Given the description of an element on the screen output the (x, y) to click on. 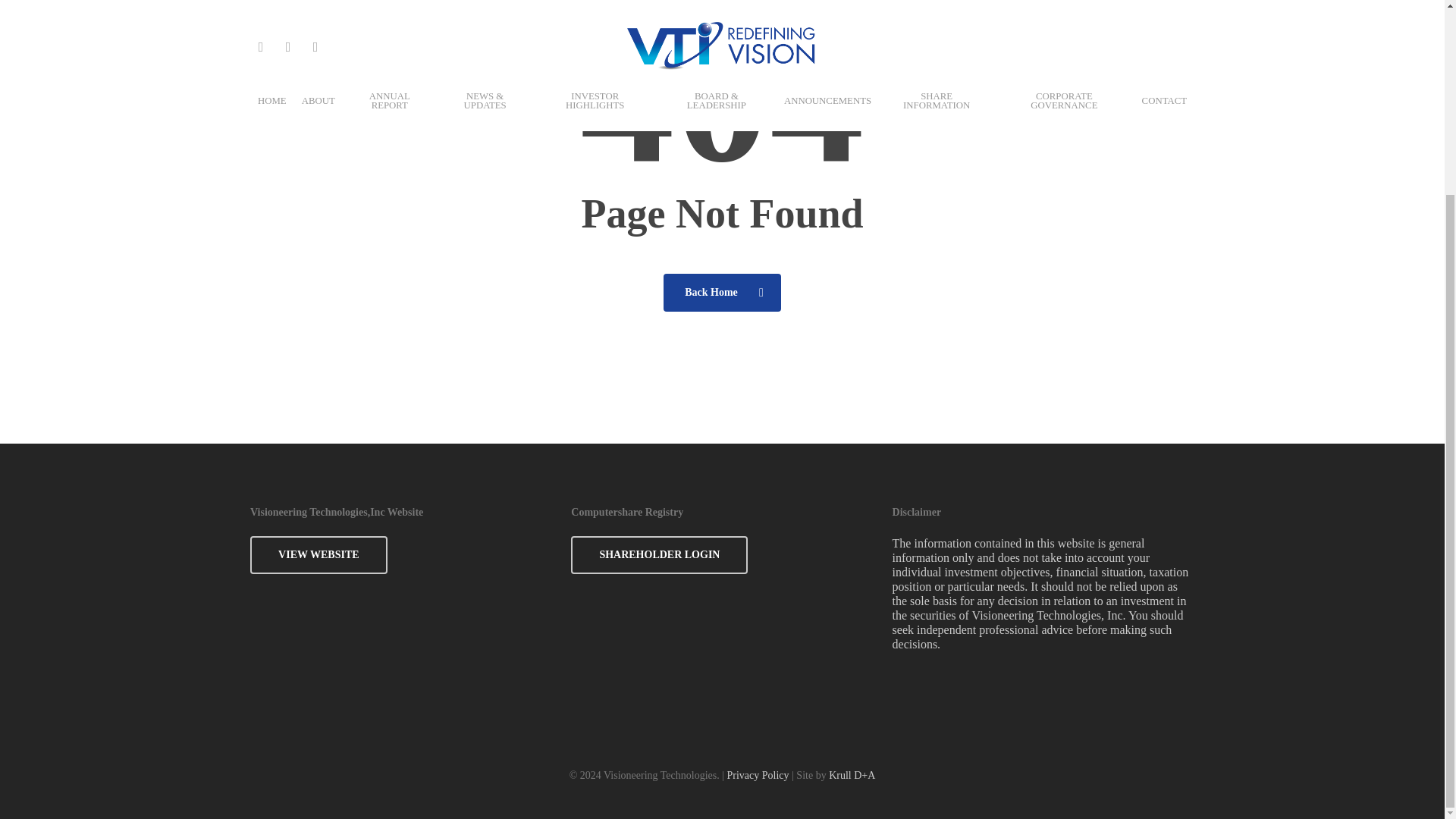
VIEW WEBSITE (318, 555)
Back Home (721, 292)
SHAREHOLDER LOGIN (659, 555)
Privacy Policy (757, 775)
